Given the description of an element on the screen output the (x, y) to click on. 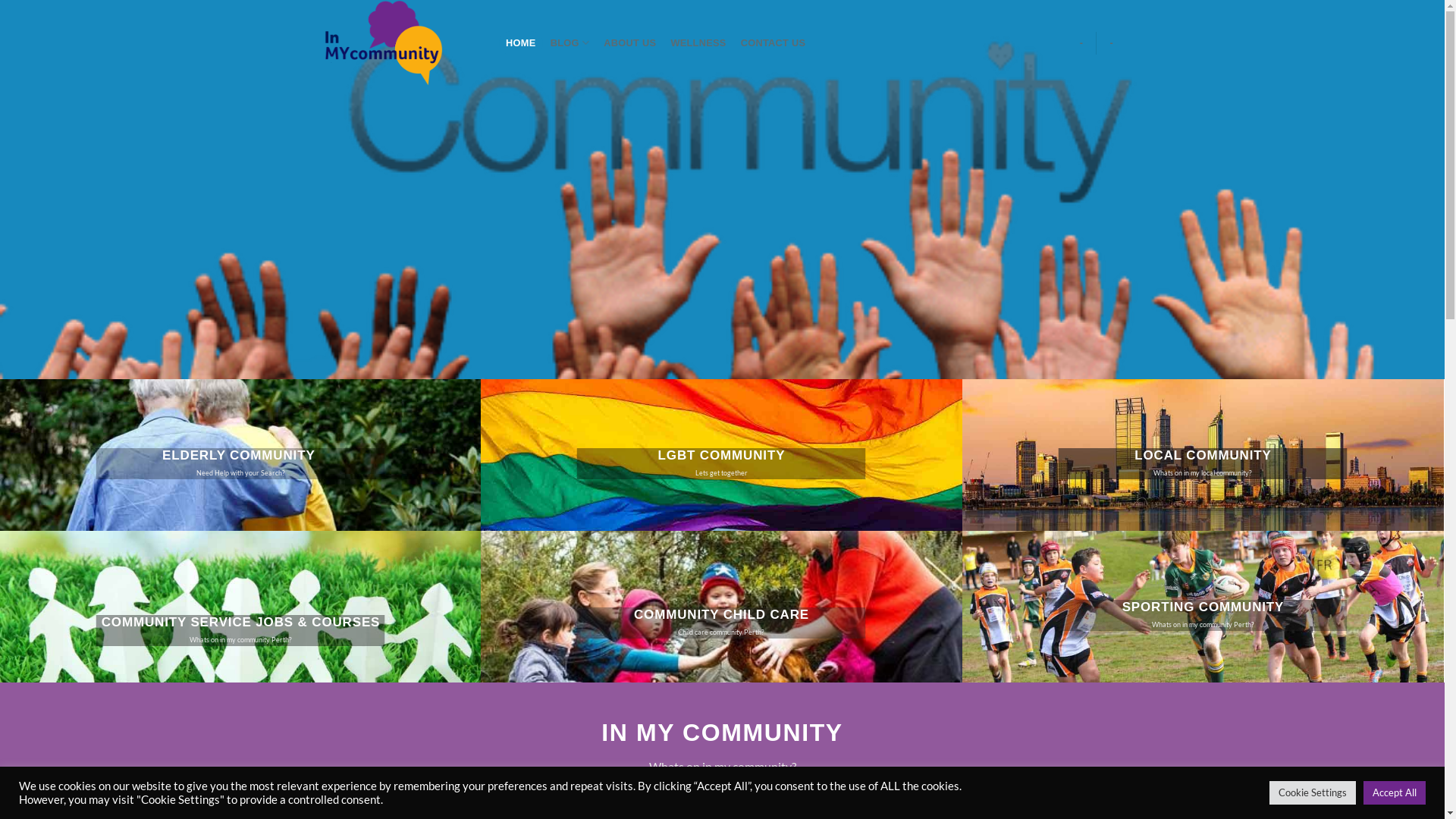
Cookie Settings Element type: text (1312, 792)
HOME Element type: text (520, 42)
In My Community, Connecting Australia. - Community Directory Element type: hover (400, 42)
- Element type: text (1081, 42)
WELLNESS Element type: text (698, 42)
BLOG Element type: text (569, 42)
Accept All Element type: text (1394, 792)
ABOUT US Element type: text (629, 42)
- Element type: text (1111, 42)
CONTACT US Element type: text (772, 42)
